Given the description of an element on the screen output the (x, y) to click on. 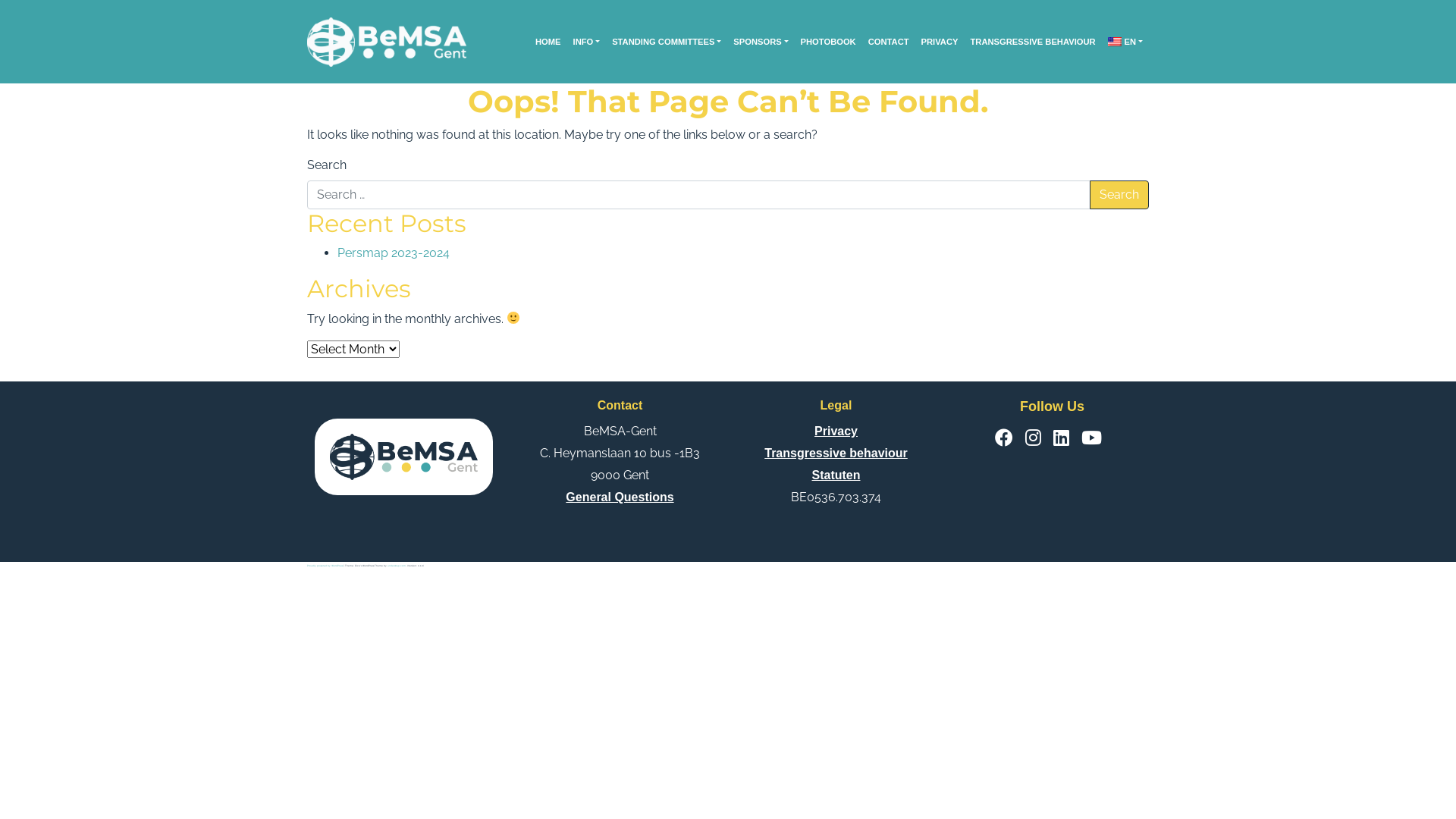
PHOTOBOOK Element type: text (828, 41)
PRIVACY Element type: text (939, 41)
understrap.com Element type: text (396, 565)
Proudly powered by WordPress Element type: text (324, 565)
STANDING COMMITTEES Element type: text (666, 41)
Home Element type: hover (386, 40)
EN Element type: text (1124, 41)
SPONSORS Element type: text (760, 41)
General Questions Element type: text (619, 496)
Persmap 2023-2024 Element type: text (393, 252)
Statuten Element type: text (835, 474)
Search Element type: text (1118, 194)
HOME Element type: text (548, 41)
TRANSGRESSIVE BEHAVIOUR Element type: text (1032, 41)
CONTACT Element type: text (888, 41)
Privacy Element type: text (835, 430)
INFO Element type: text (586, 41)
Transgressive behaviour Element type: text (835, 452)
